Given the description of an element on the screen output the (x, y) to click on. 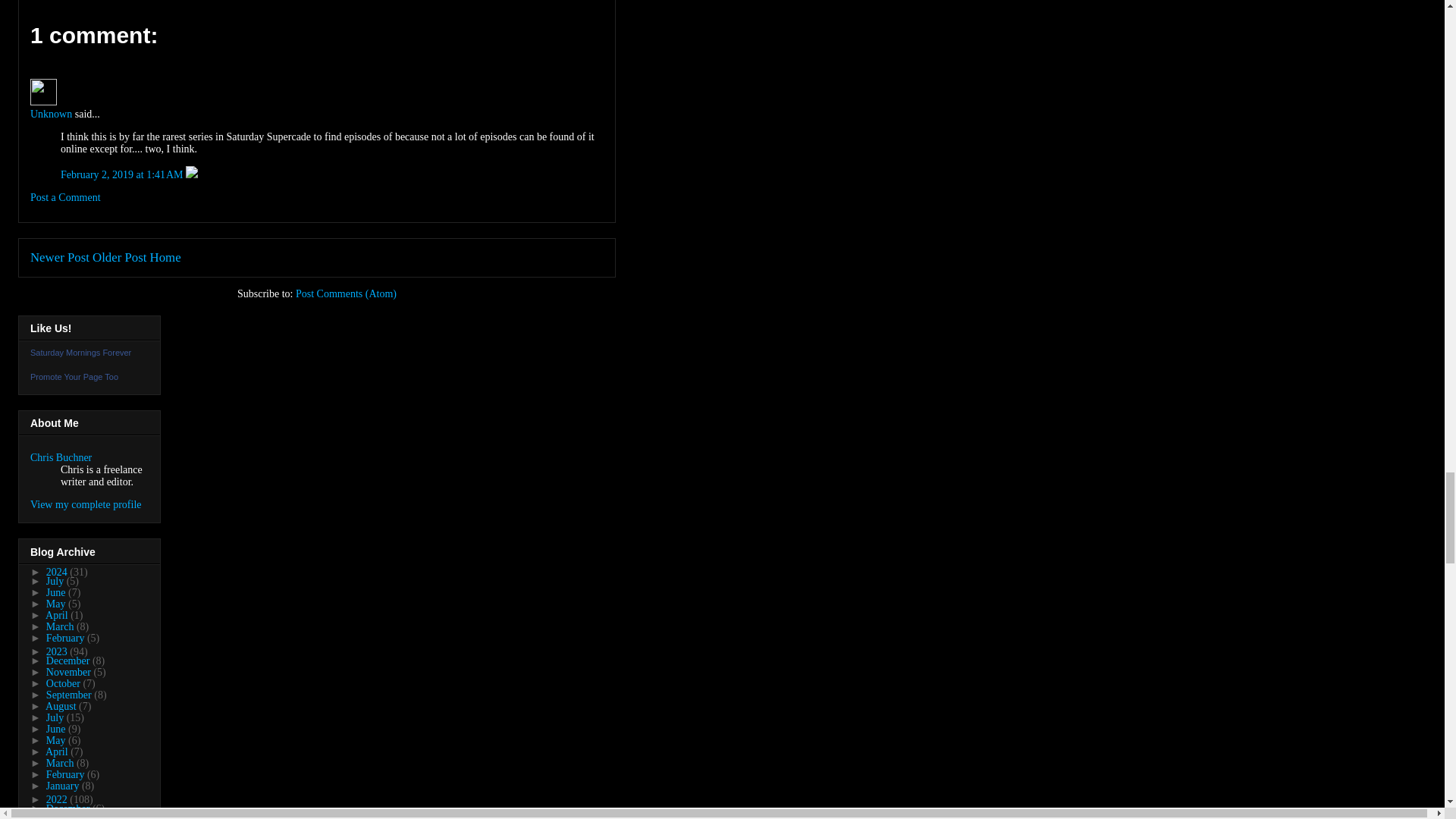
Saturday Mornings Forever (80, 352)
Unknown (43, 91)
Older Post (120, 257)
Newer Post (59, 257)
Delete Comment (192, 174)
comment permalink (123, 174)
